Given the description of an element on the screen output the (x, y) to click on. 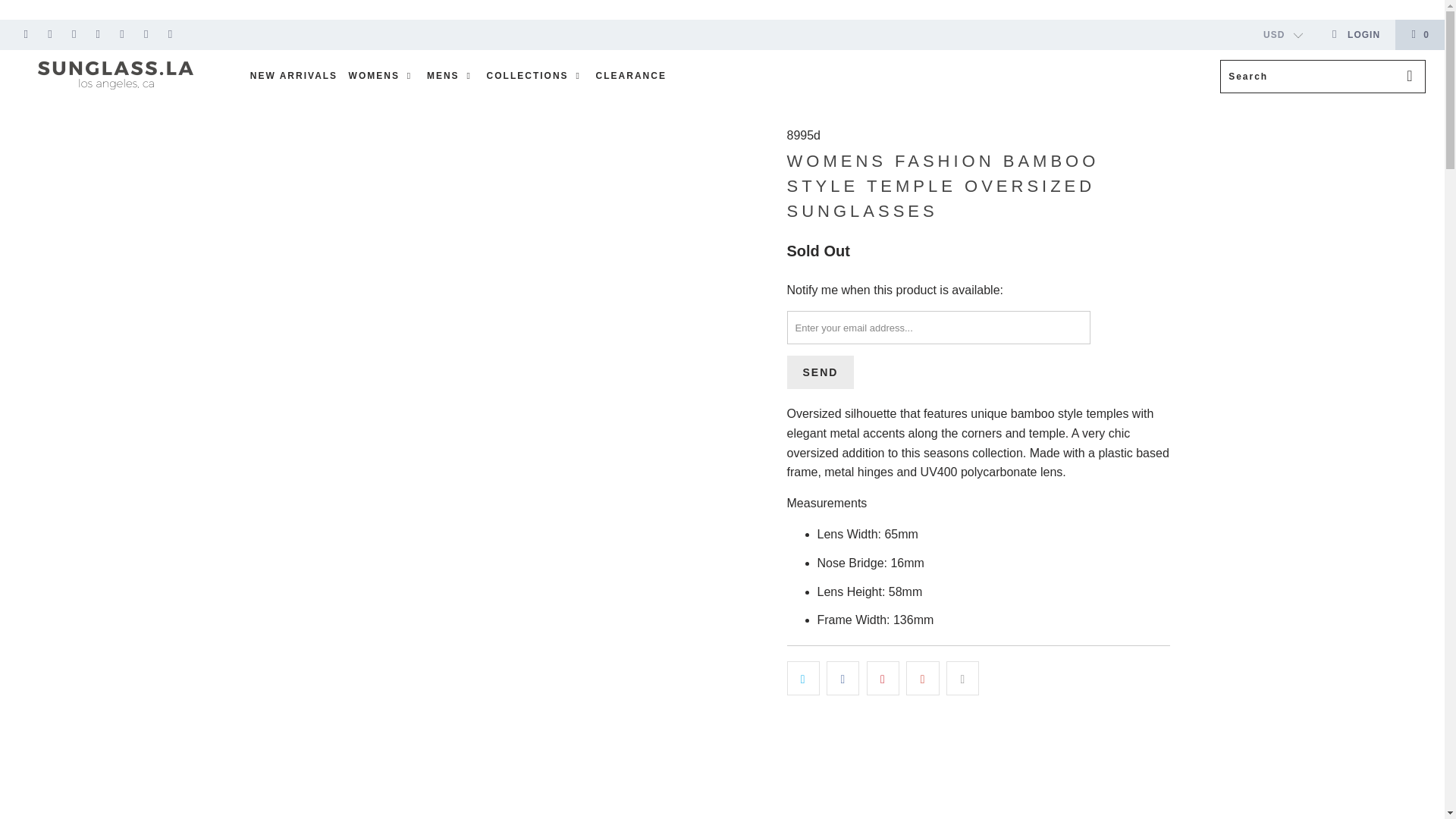
Email this to a friend (962, 678)
Share this on Twitter (803, 678)
sunglass.la on Pinterest (121, 34)
Share this on Facebook (843, 678)
Send (820, 372)
My Account  (1355, 34)
sunglass.la on YouTube (73, 34)
Share this on Pinterest (882, 678)
sunglass.la on Vimeo (96, 34)
sunglass.la on Facebook (49, 34)
Email sunglass.la (169, 34)
sunglass.la on Instagram (145, 34)
sunglass.la on Twitter (25, 34)
sunglass.la (115, 74)
